Given the description of an element on the screen output the (x, y) to click on. 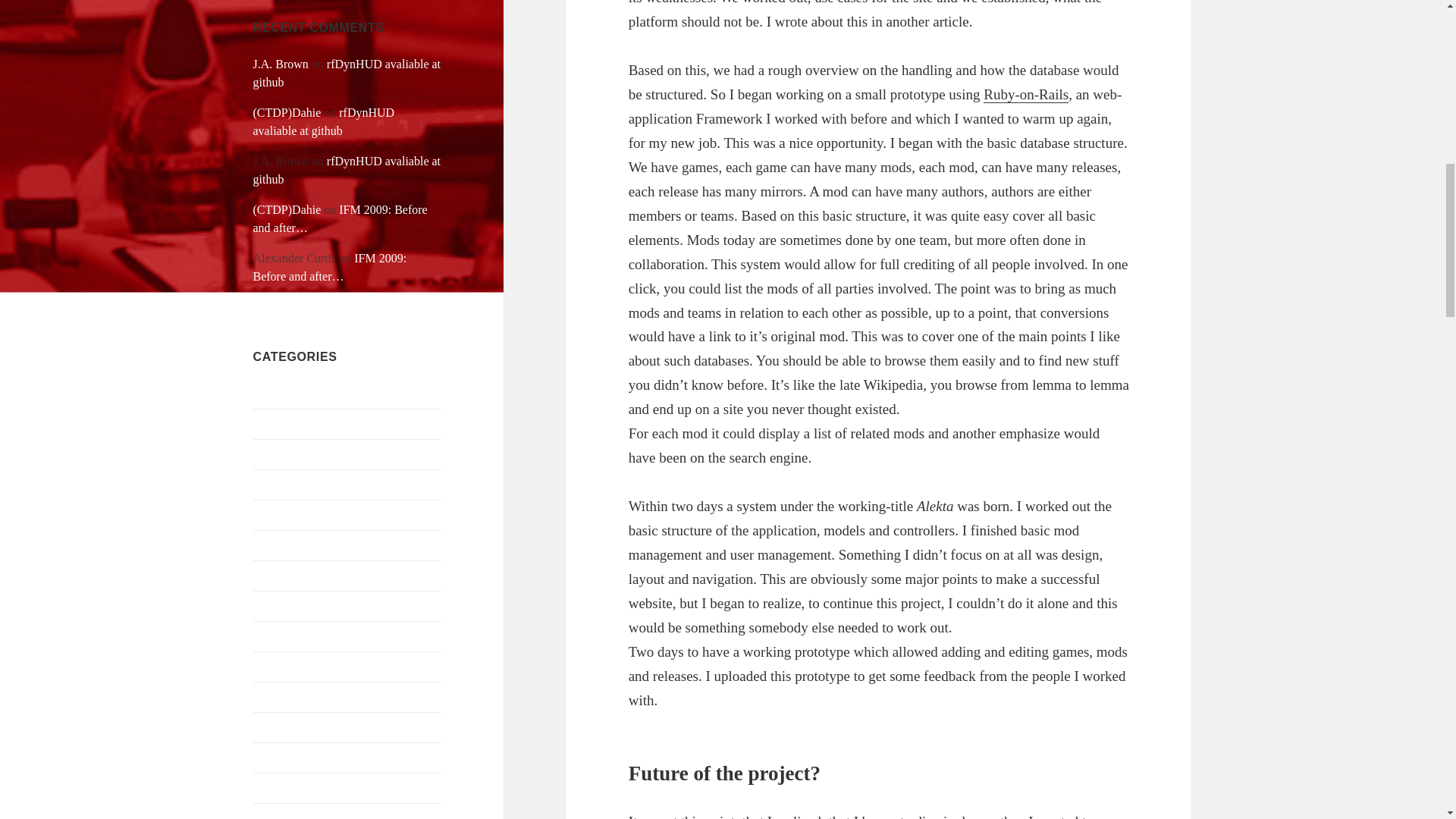
rfDynHUD avaliable at github (347, 169)
Community (282, 604)
F1 2006 (273, 666)
F1 1994 (273, 635)
F1 2009 (273, 696)
Announcement (290, 392)
Helmets (273, 726)
J.A. Brown (280, 63)
IFM 2009 (277, 787)
Beta testing (282, 513)
